Given the description of an element on the screen output the (x, y) to click on. 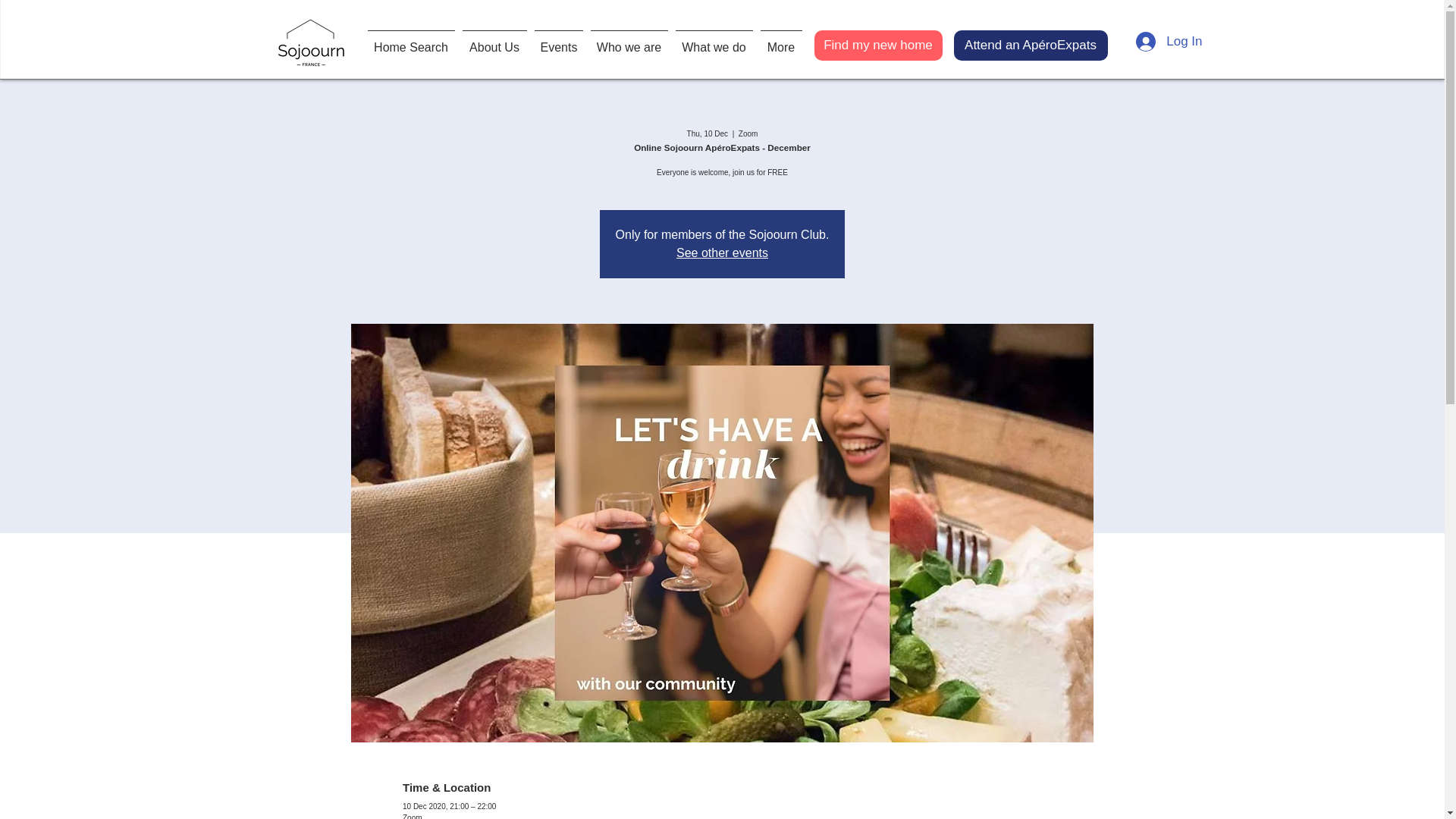
Find my new home (877, 45)
About Us (493, 40)
What we do (714, 40)
Who we are (628, 40)
Events (558, 40)
Log In (1168, 41)
See other events (722, 252)
Home Search (411, 40)
